Given the description of an element on the screen output the (x, y) to click on. 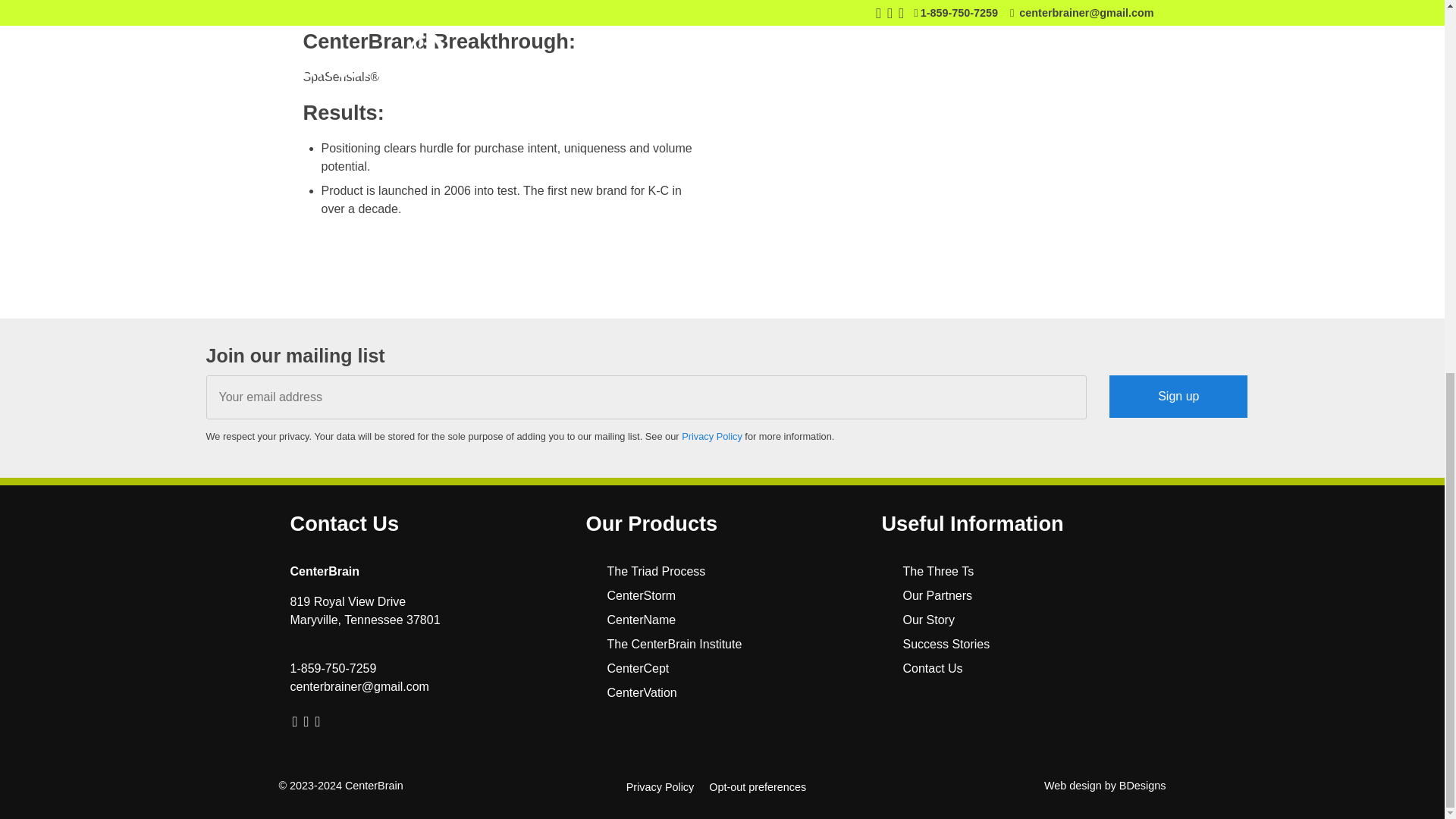
1-859-750-7259 (332, 667)
Sign up (1178, 396)
Sign up (1178, 396)
Privacy Policy (711, 436)
